Given the description of an element on the screen output the (x, y) to click on. 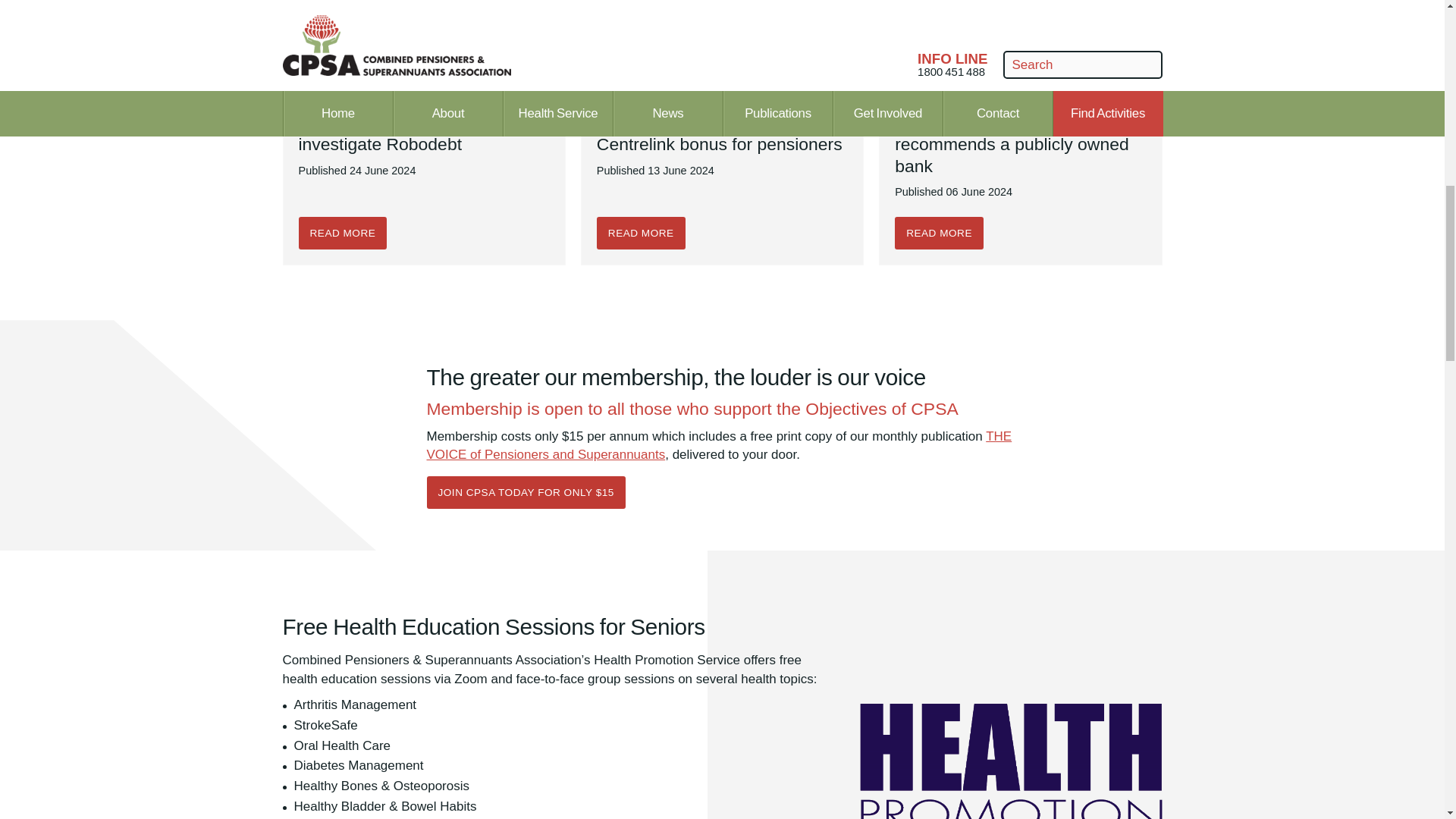
THE VOICE of Pensioners and Superannuants (718, 445)
